Given the description of an element on the screen output the (x, y) to click on. 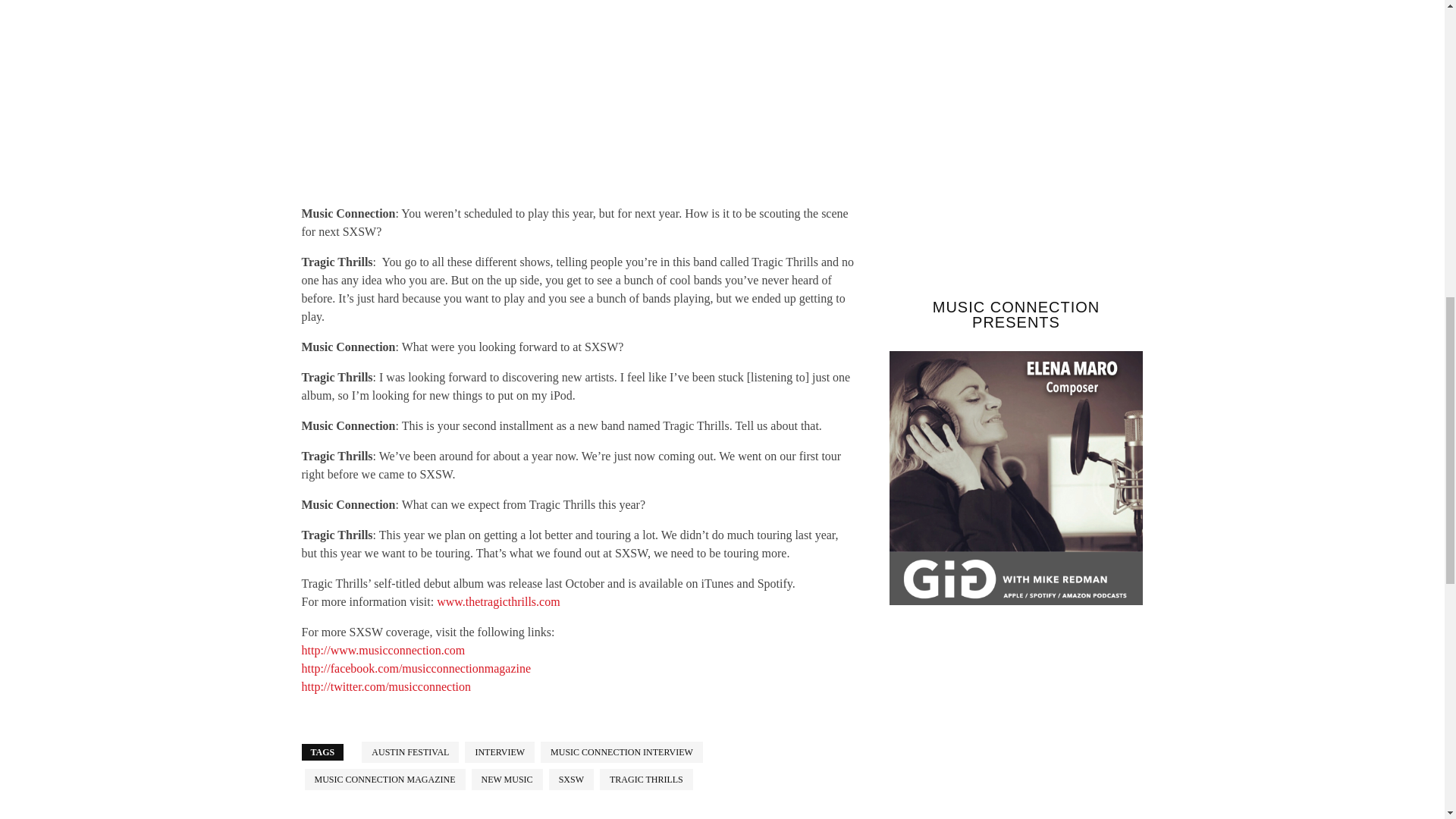
View all posts tagged interview (499, 752)
View all posts tagged Austin Festival (409, 752)
View all posts tagged new music (507, 779)
View all posts tagged music connection interview (621, 752)
View all posts tagged sxsw (571, 779)
View all posts tagged music connection magazine (384, 779)
View all posts tagged Tragic Thrills (646, 779)
